Given the description of an element on the screen output the (x, y) to click on. 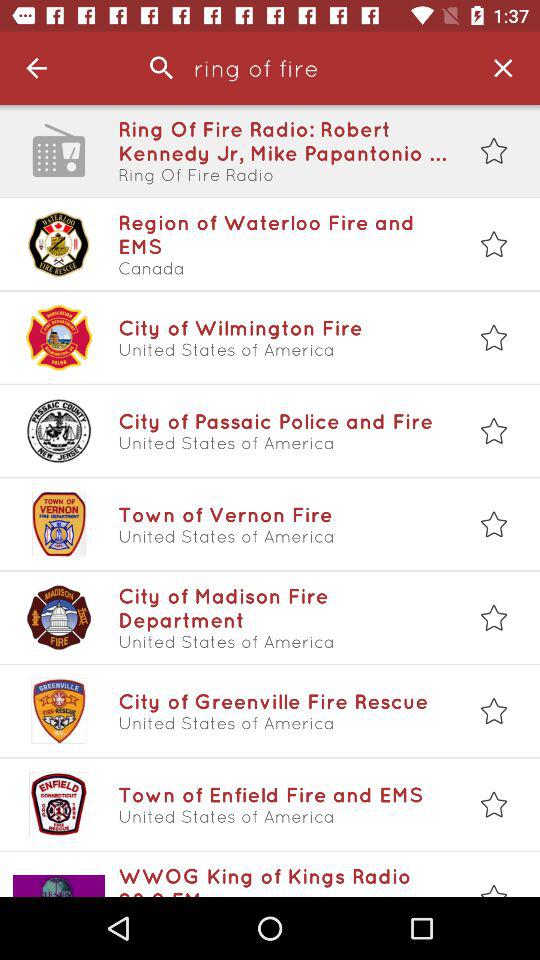
flip to the wwog king of (283, 879)
